Given the description of an element on the screen output the (x, y) to click on. 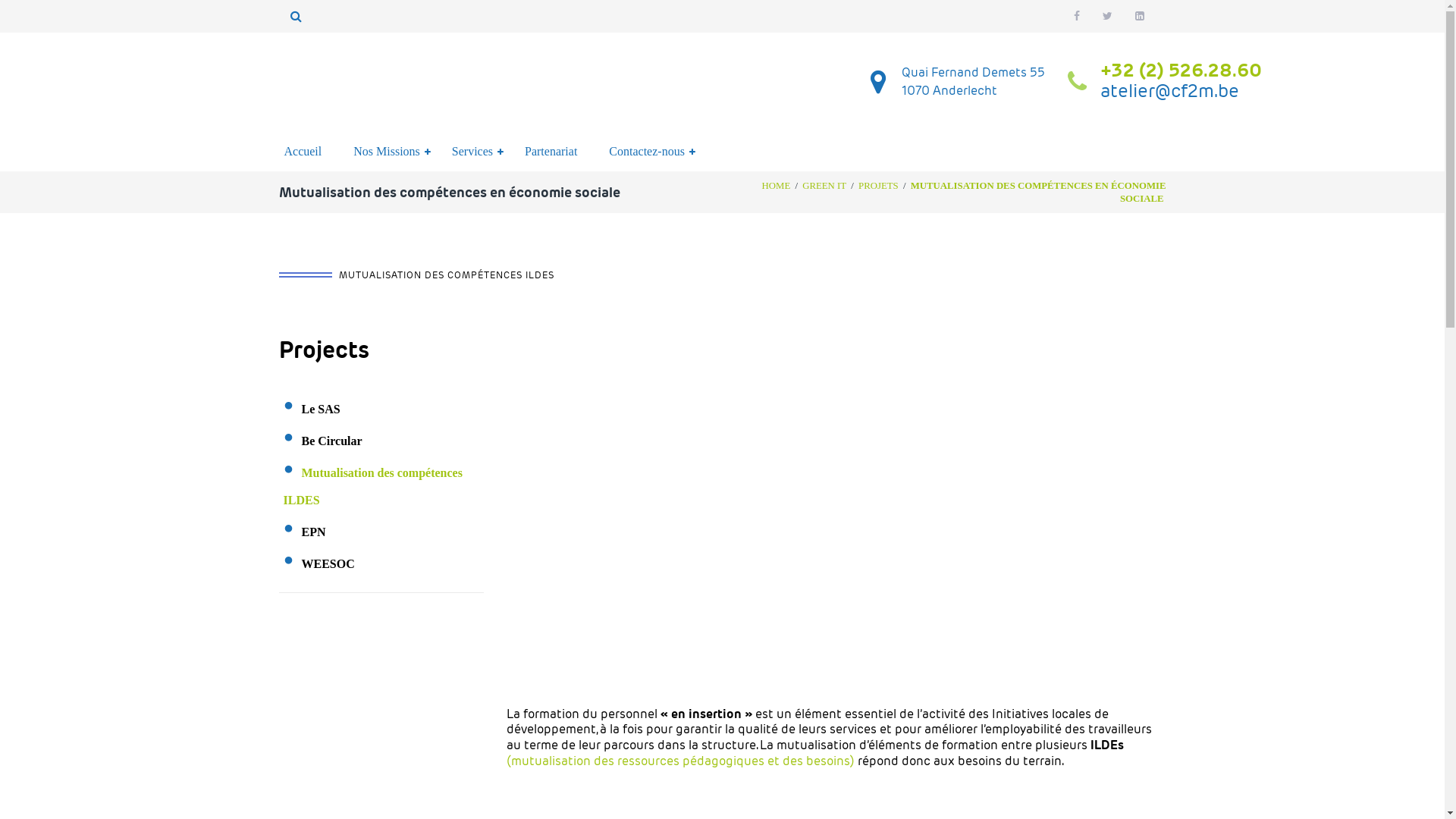
  Element type: text (1140, 15)
EPN Element type: text (313, 531)
Services Element type: text (472, 151)
Contactez-nous Element type: text (646, 151)
Partenariat Element type: text (550, 151)
GREEN IT Element type: text (824, 185)
  Element type: text (1077, 15)
WEESOC Element type: text (327, 563)
Accueil Element type: text (302, 151)
  Element type: text (1108, 15)
Search Element type: text (492, 60)
HOME Element type: text (776, 185)
atelier@cf2m.be Element type: text (1168, 90)
Le SAS Element type: text (320, 408)
Be Circular Element type: text (331, 440)
Nos Missions Element type: text (386, 151)
PROJETS Element type: text (878, 185)
